Given the description of an element on the screen output the (x, y) to click on. 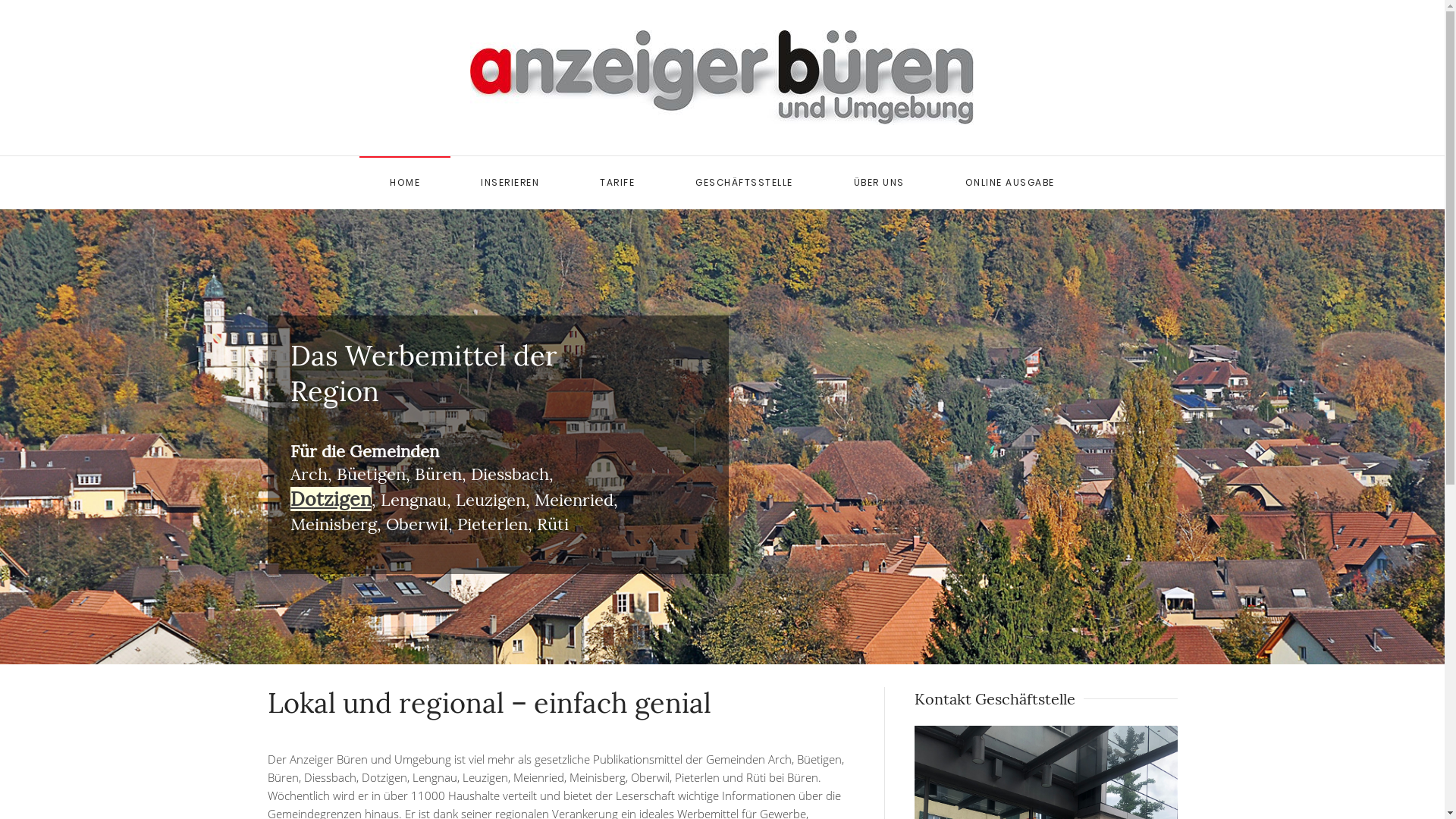
ONLINE AUSGABE Element type: text (1010, 182)
INSERIEREN Element type: text (509, 182)
TARIFE Element type: text (617, 182)
HOME Element type: text (404, 182)
Dotzigen Element type: text (329, 499)
